Given the description of an element on the screen output the (x, y) to click on. 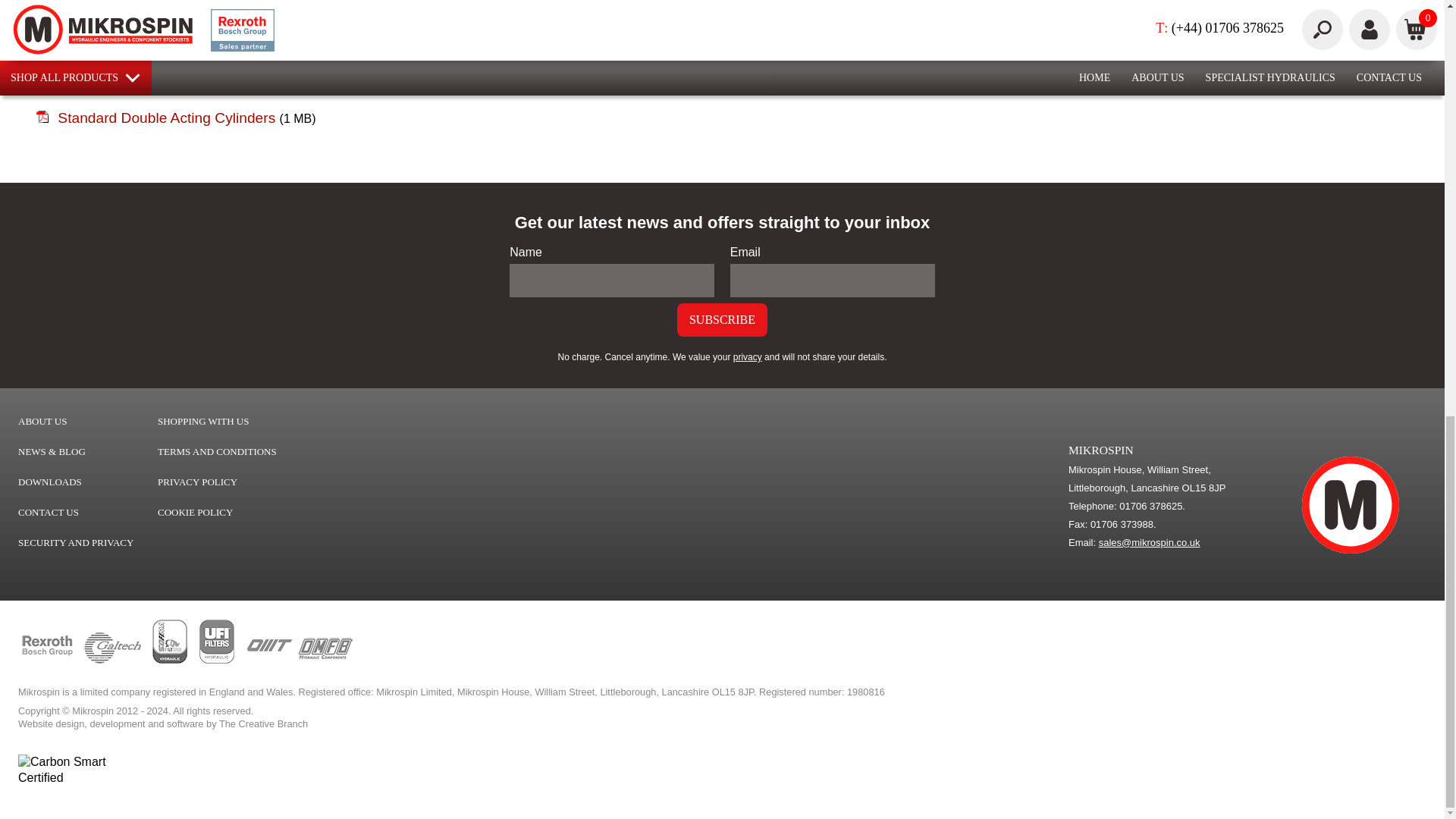
View all Bosch Rexroth products (47, 659)
Subscribe (722, 319)
View all Galtech products (112, 659)
View all Sofima products (170, 659)
View all OMFB products (325, 659)
View all OMT products (268, 659)
View all filters (216, 659)
Privacy policy (747, 357)
